Given the description of an element on the screen output the (x, y) to click on. 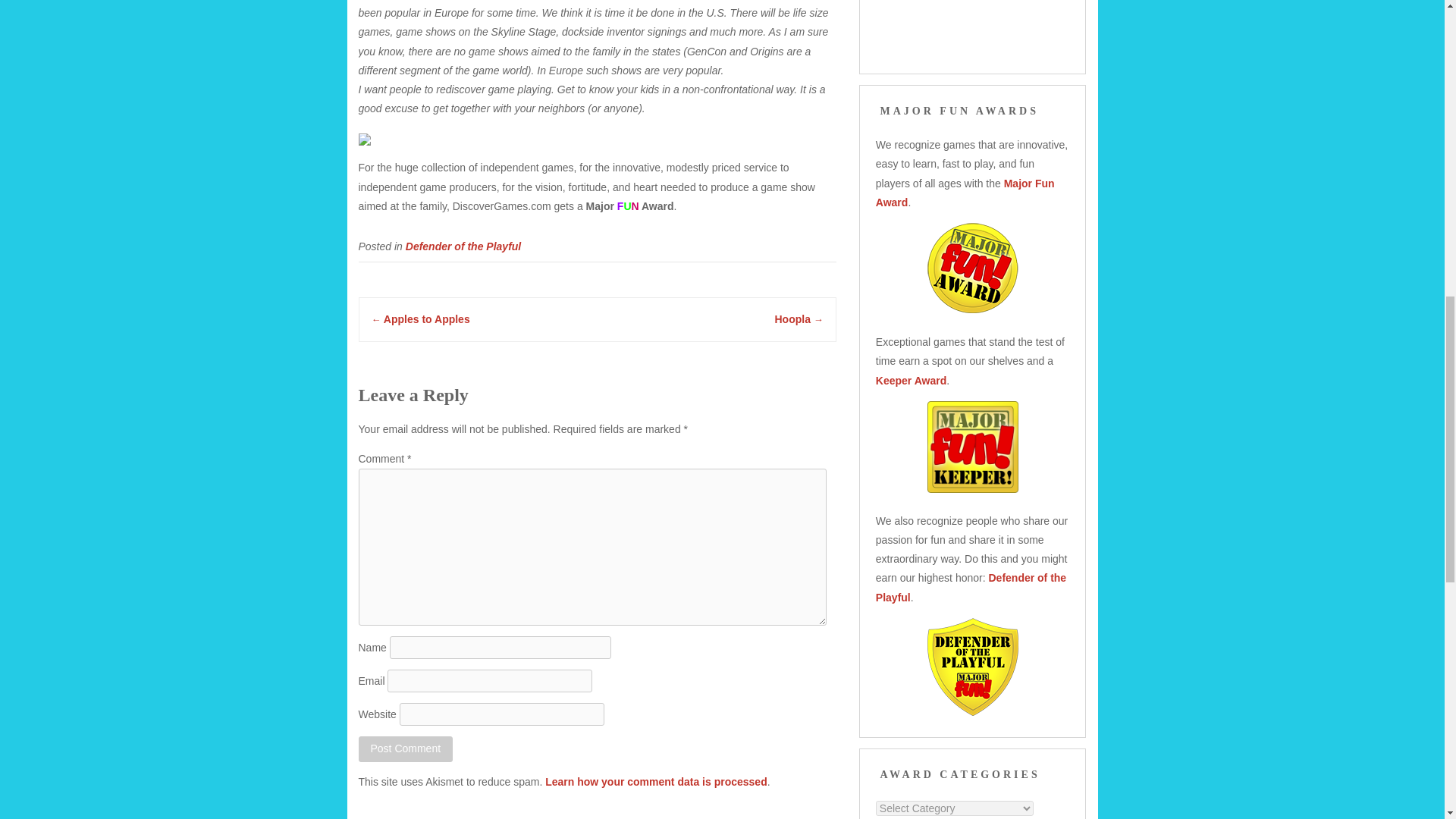
Learn how your comment data is processed (655, 781)
Keeper Award (911, 380)
Defender of the Playful (463, 246)
Post Comment (405, 748)
Major Fun Award (965, 192)
Post Comment (405, 748)
Defender of the Playful (970, 586)
